Given the description of an element on the screen output the (x, y) to click on. 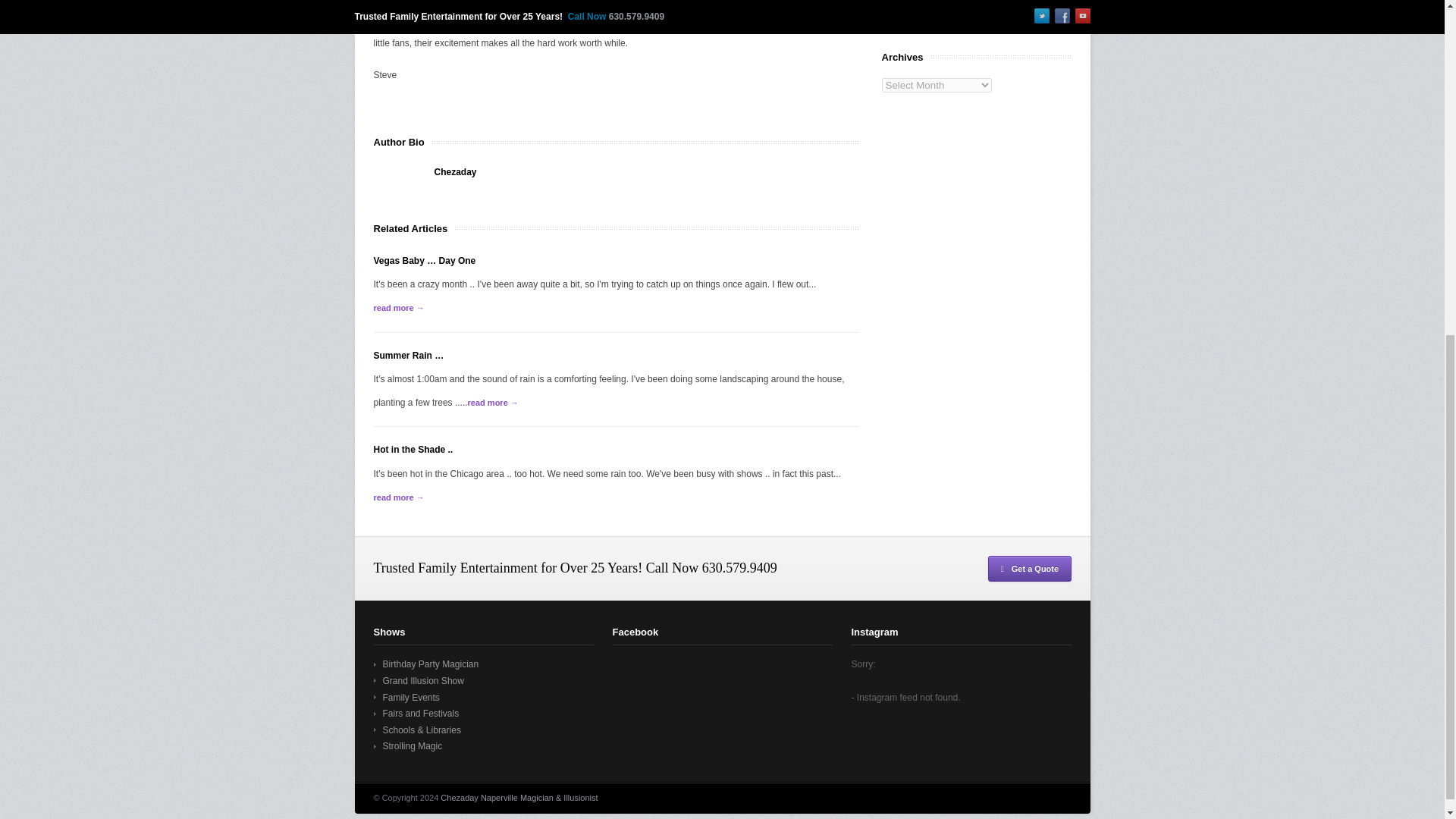
Grand Illusion Show (417, 680)
Get a Quote (1029, 568)
Chezaday (454, 172)
Hot in the Shade .. (412, 449)
Birthday Party Magician (425, 664)
